Given the description of an element on the screen output the (x, y) to click on. 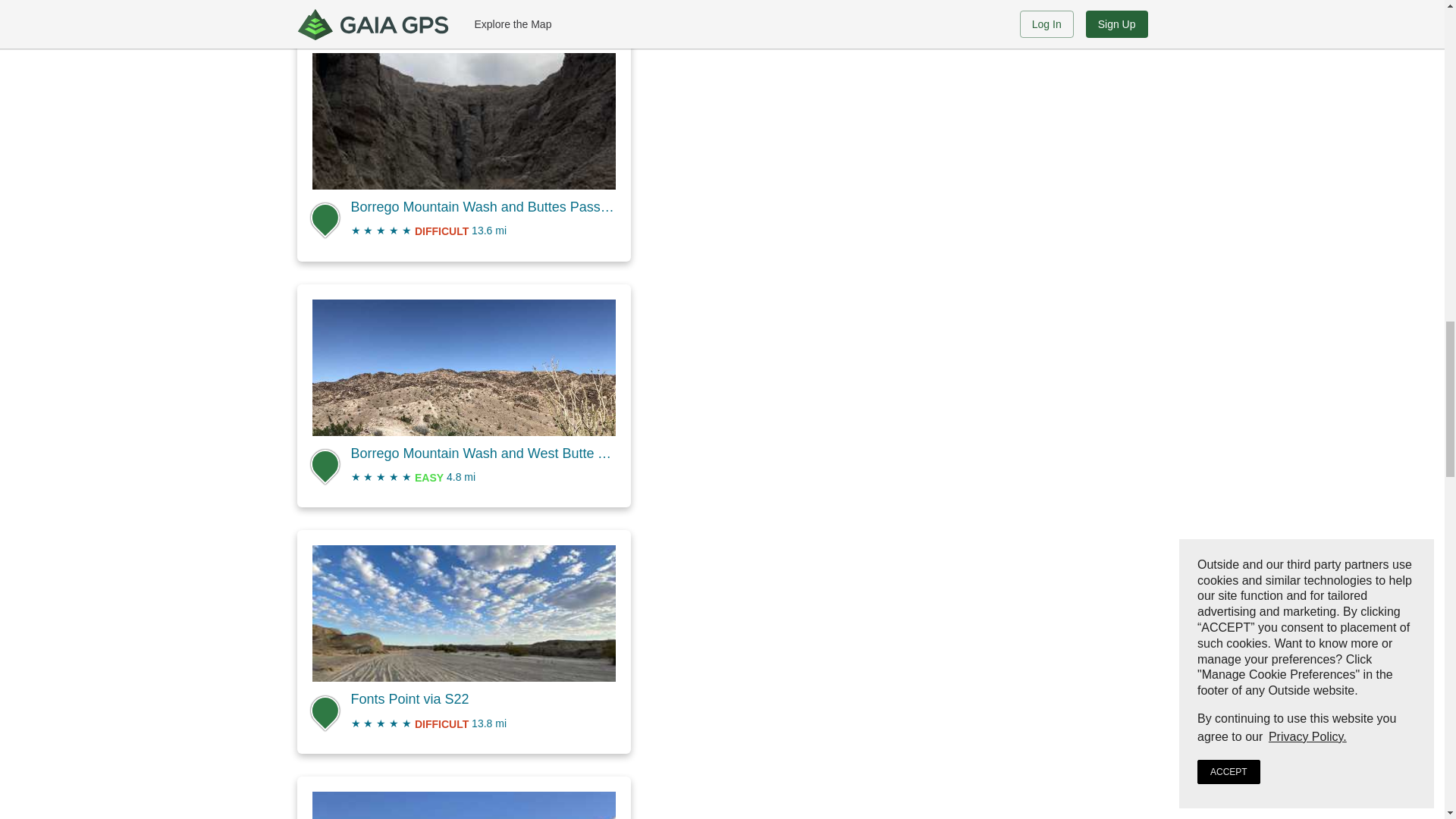
Miles (500, 230)
Miles (470, 476)
